Given the description of an element on the screen output the (x, y) to click on. 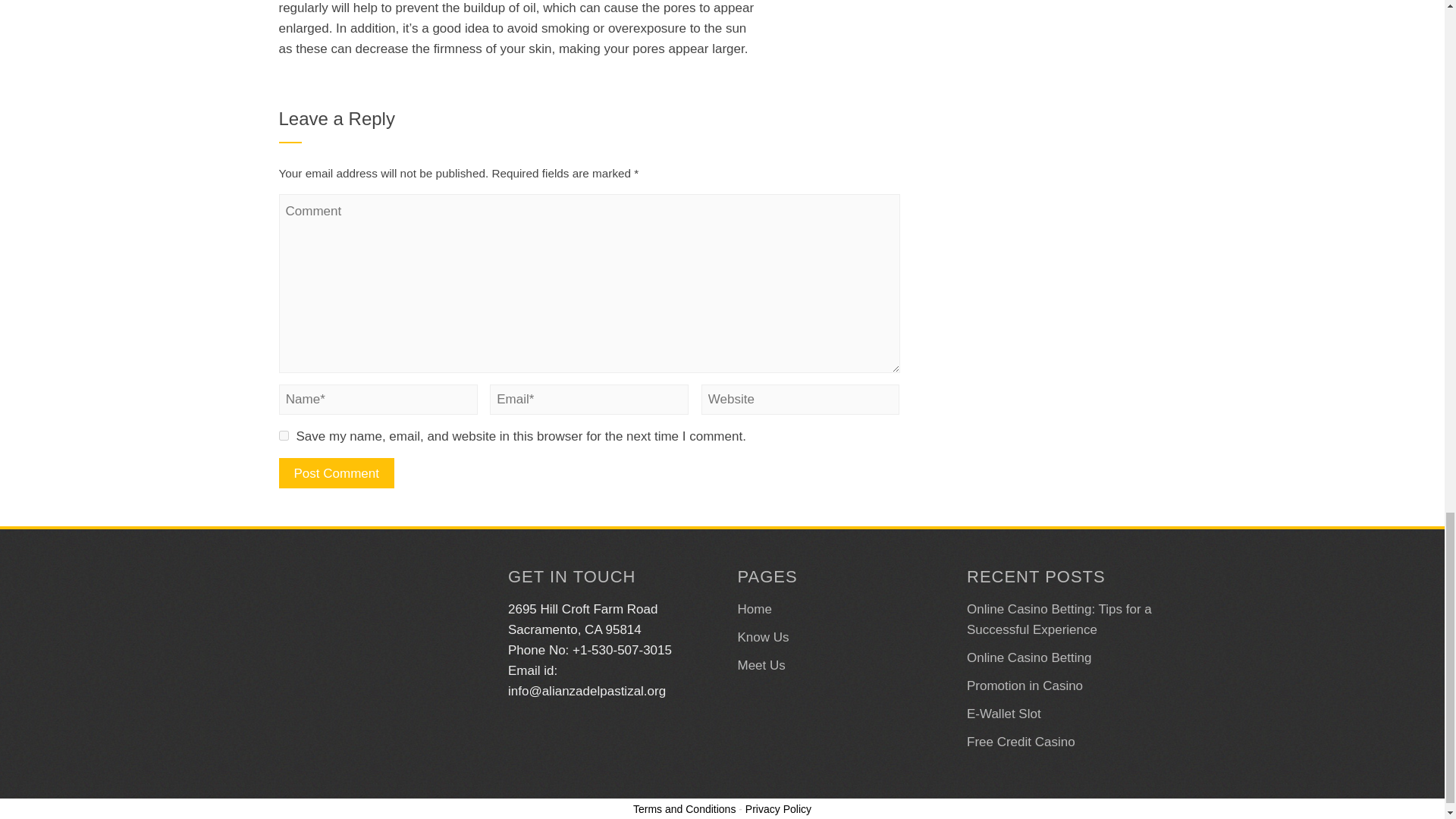
Online Casino Betting: Tips for a Successful Experience (1058, 619)
Meet Us (760, 665)
Post Comment (336, 472)
Post Comment (336, 472)
Know Us (762, 636)
Home (753, 608)
E-Wallet Slot (1003, 713)
Terms and Conditions (684, 808)
yes (283, 435)
Free Credit Casino (1020, 741)
Online Casino Betting (1028, 657)
Privacy Policy (777, 808)
Promotion in Casino (1024, 685)
